Given the description of an element on the screen output the (x, y) to click on. 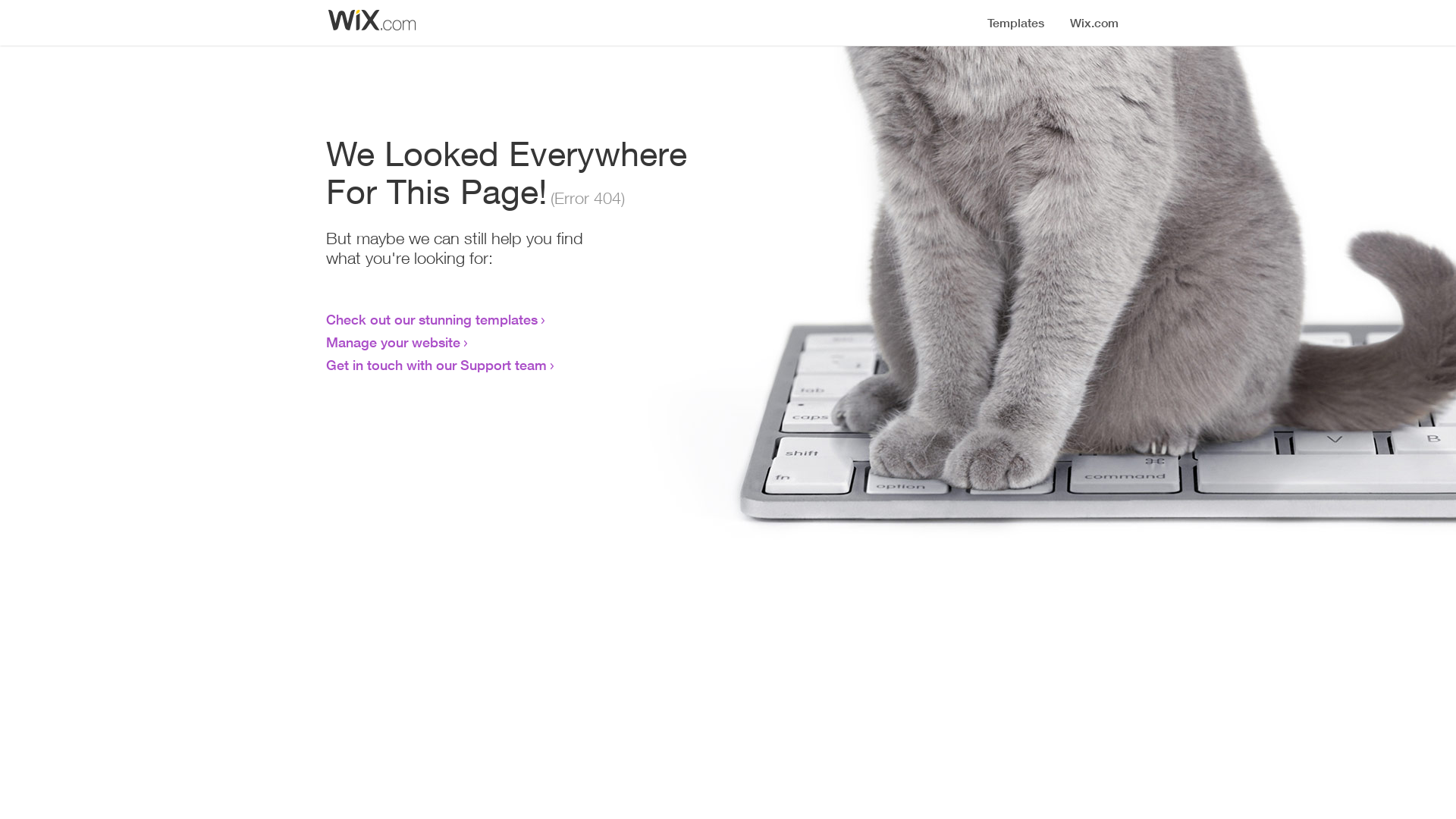
Check out our stunning templates Element type: text (431, 318)
Get in touch with our Support team Element type: text (436, 364)
Manage your website Element type: text (393, 341)
